Given the description of an element on the screen output the (x, y) to click on. 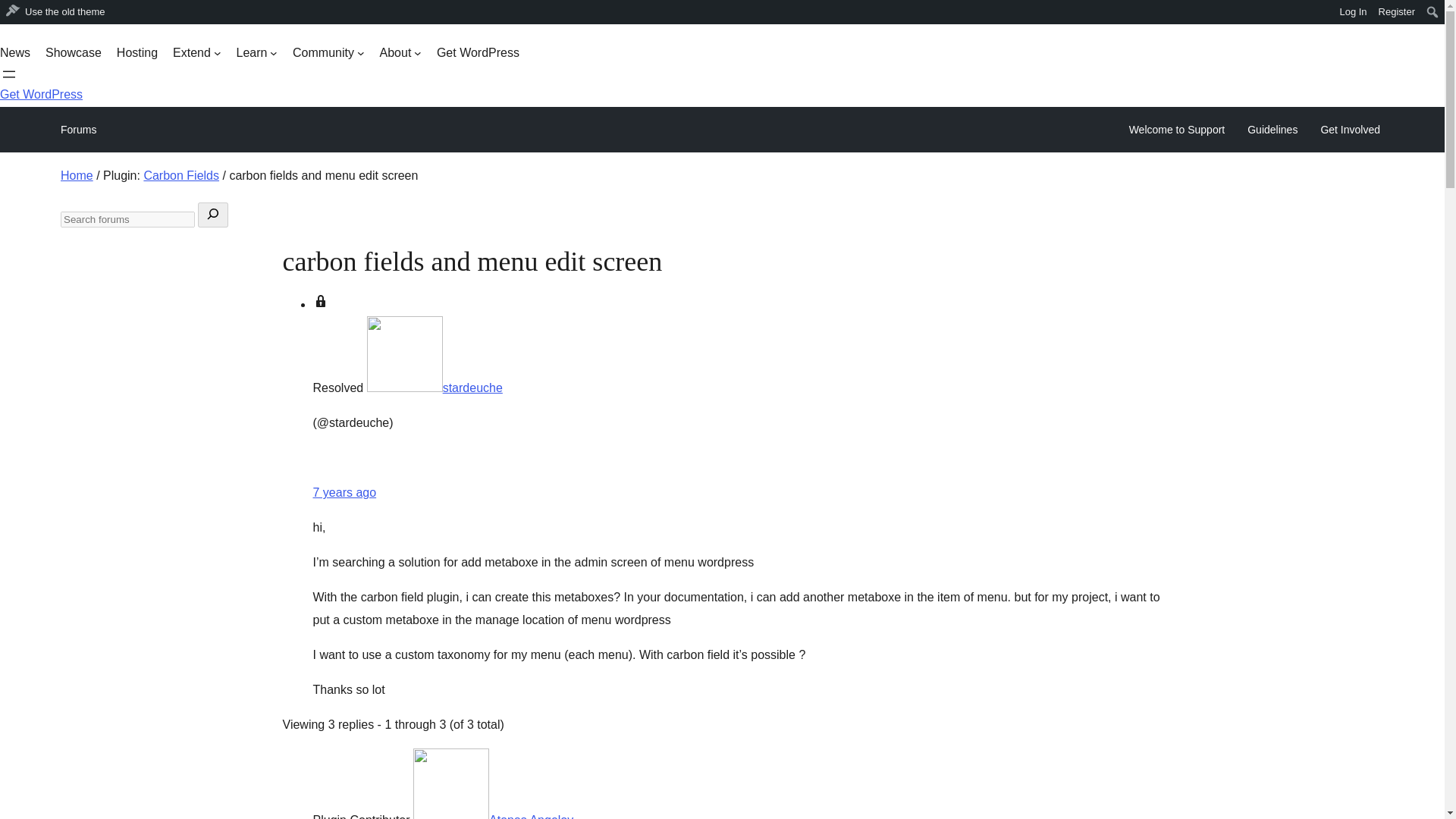
About (401, 52)
News (15, 52)
Get WordPress (41, 93)
Search (16, 13)
Use the old theme (56, 12)
WordPress.org (10, 10)
View stardeuche's profile (434, 387)
Learn (256, 52)
Extend (197, 52)
Hosting (136, 52)
